Given the description of an element on the screen output the (x, y) to click on. 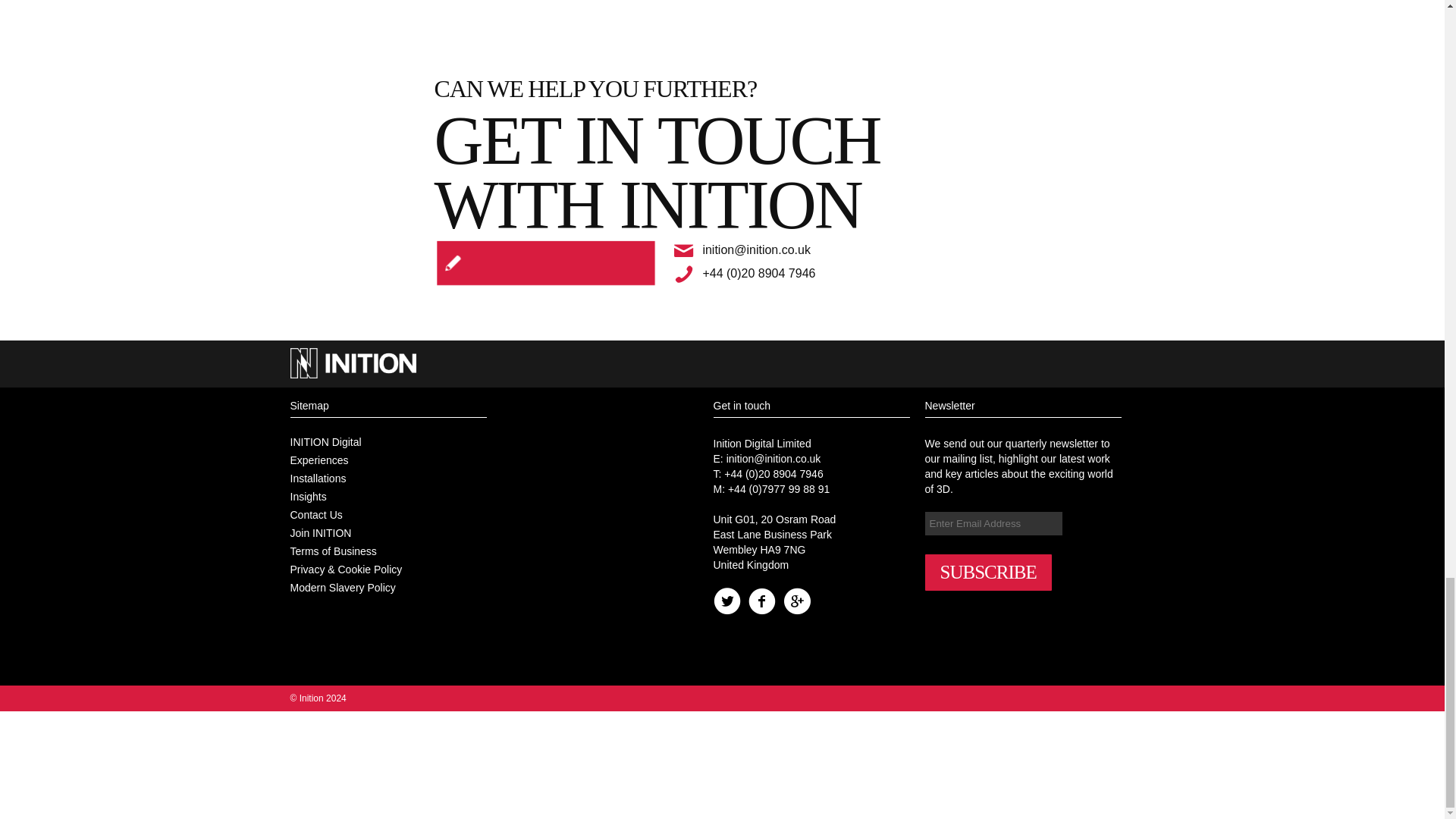
INITION Digital (325, 441)
Subscribe (622, 264)
Contact Us (315, 514)
Insights (307, 496)
Installations (317, 478)
Subscribe (987, 572)
2 (456, 255)
Experiences (318, 460)
Inition (317, 697)
Join INITION (319, 532)
